Given the description of an element on the screen output the (x, y) to click on. 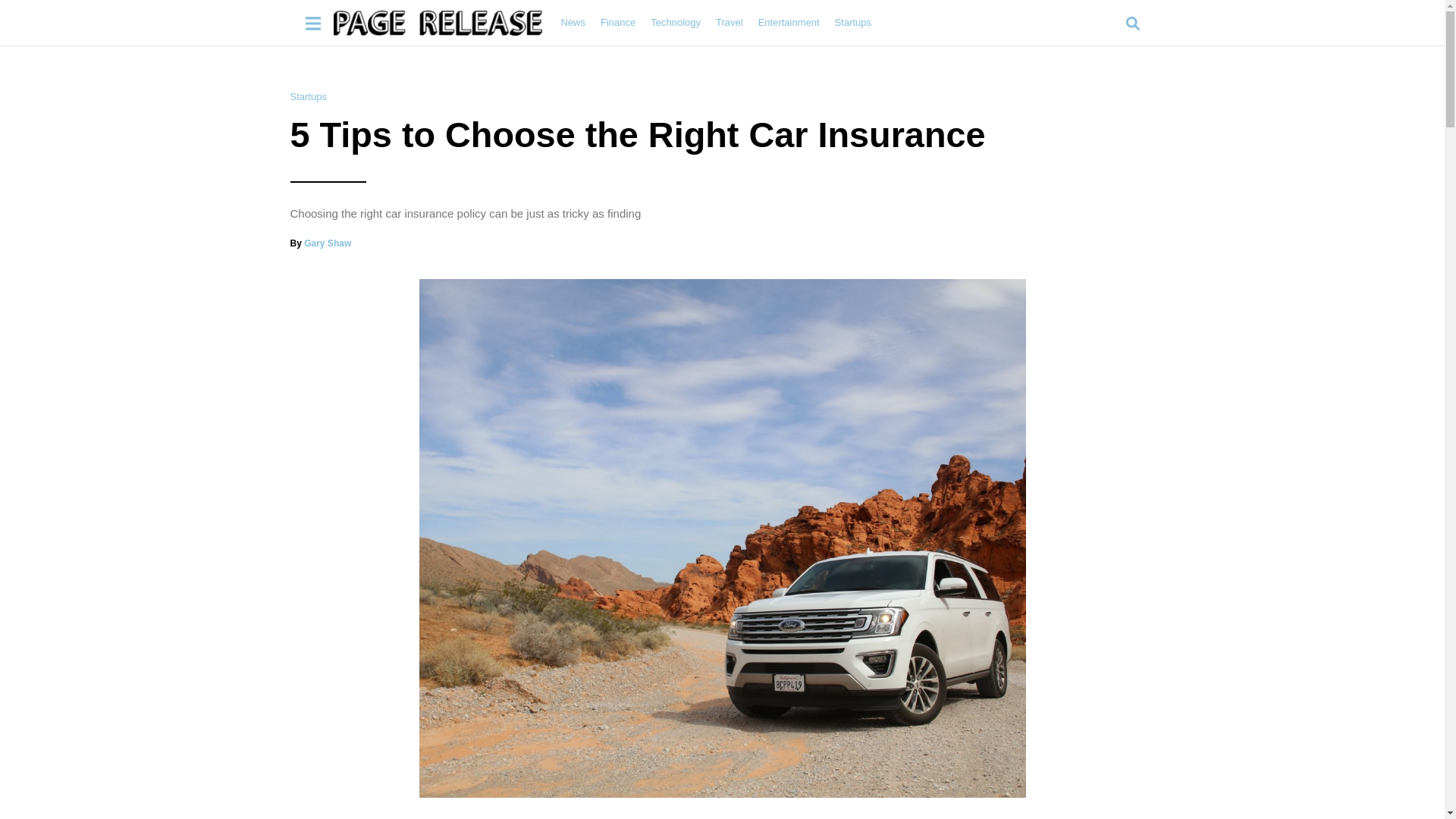
News (573, 22)
Startups (307, 96)
Finance (617, 22)
By Gary Shaw (319, 243)
Travel (729, 22)
Startups (853, 22)
Technology (675, 22)
Entertainment (789, 22)
